Given the description of an element on the screen output the (x, y) to click on. 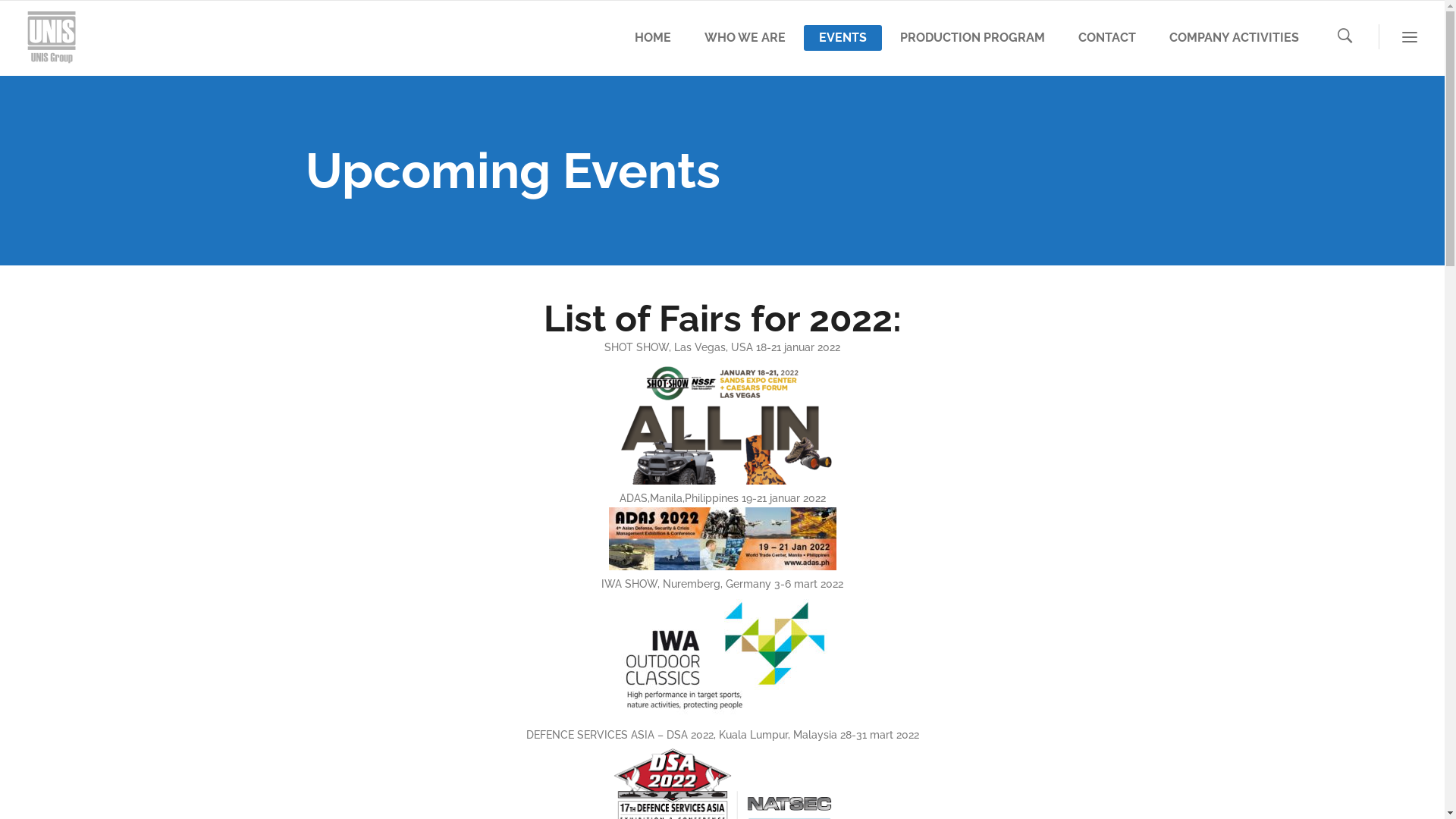
PRODUCTION PROGRAM Element type: text (972, 37)
COMPANY ACTIVITIES Element type: text (1234, 37)
HOME Element type: text (652, 37)
EVENTS Element type: text (842, 37)
CONTACT Element type: text (1107, 37)
WHO WE ARE Element type: text (744, 37)
